Given the description of an element on the screen output the (x, y) to click on. 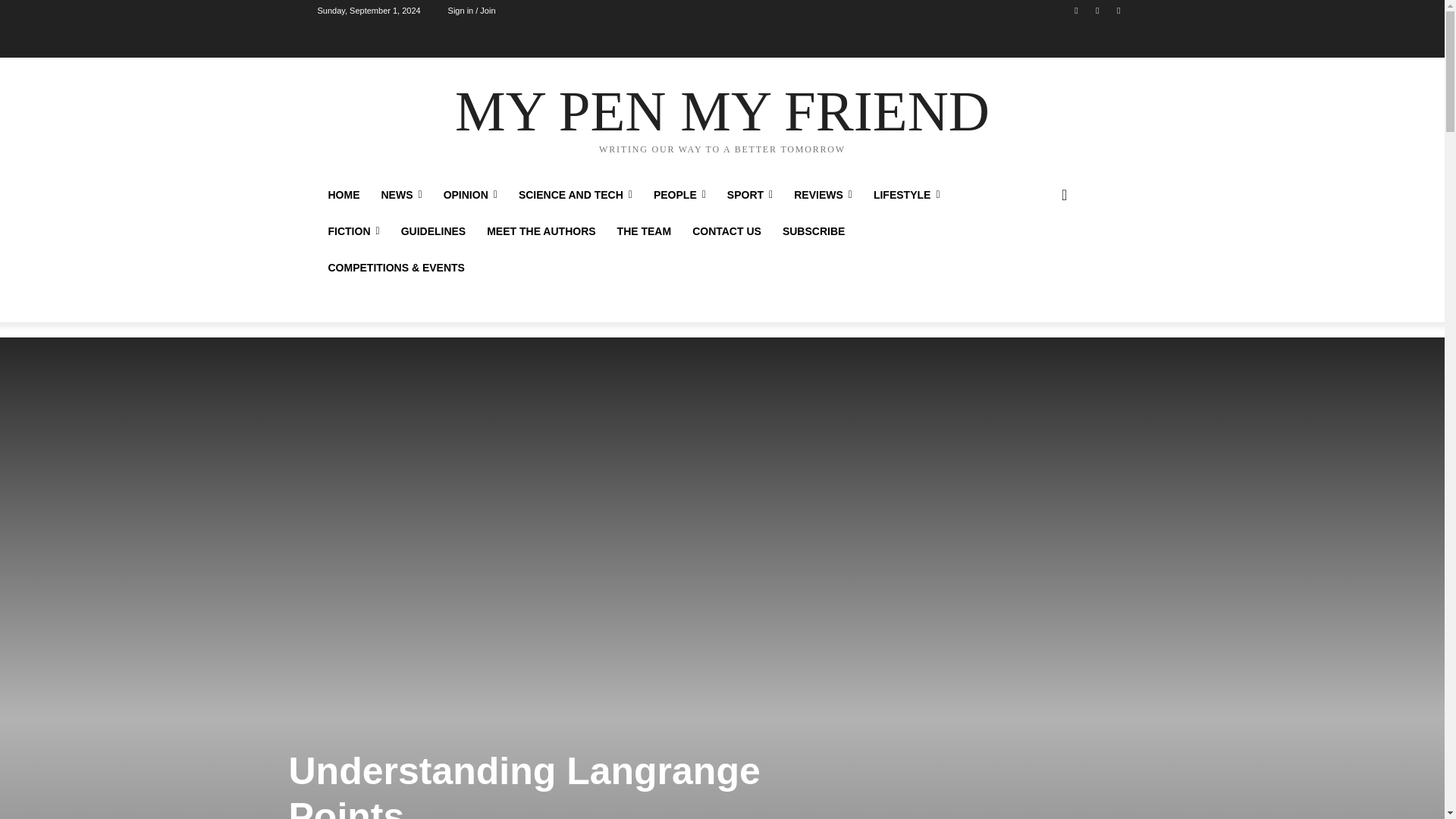
MY PEN MY FRIEND (721, 116)
Facebook (1075, 9)
Instagram (1097, 9)
Youtube (1117, 9)
